Given the description of an element on the screen output the (x, y) to click on. 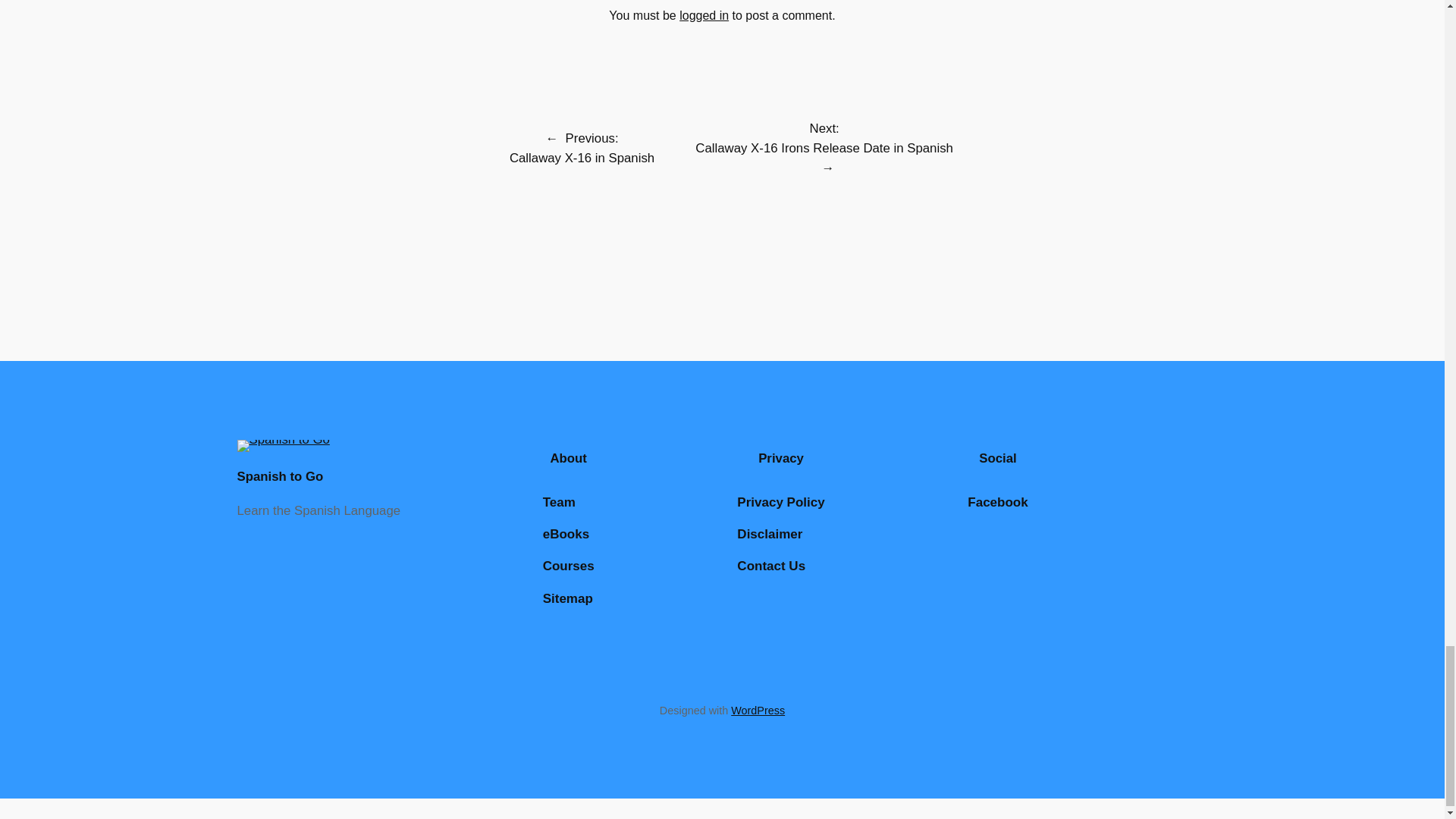
Spanish to Go (279, 476)
eBooks (566, 534)
Sitemap (567, 598)
logged in (704, 15)
Courses (568, 566)
Next: Callaway X-16 Irons Release Date in Spanish (824, 138)
Previous: Callaway X-16 in Spanish (581, 148)
Team (559, 502)
